Given the description of an element on the screen output the (x, y) to click on. 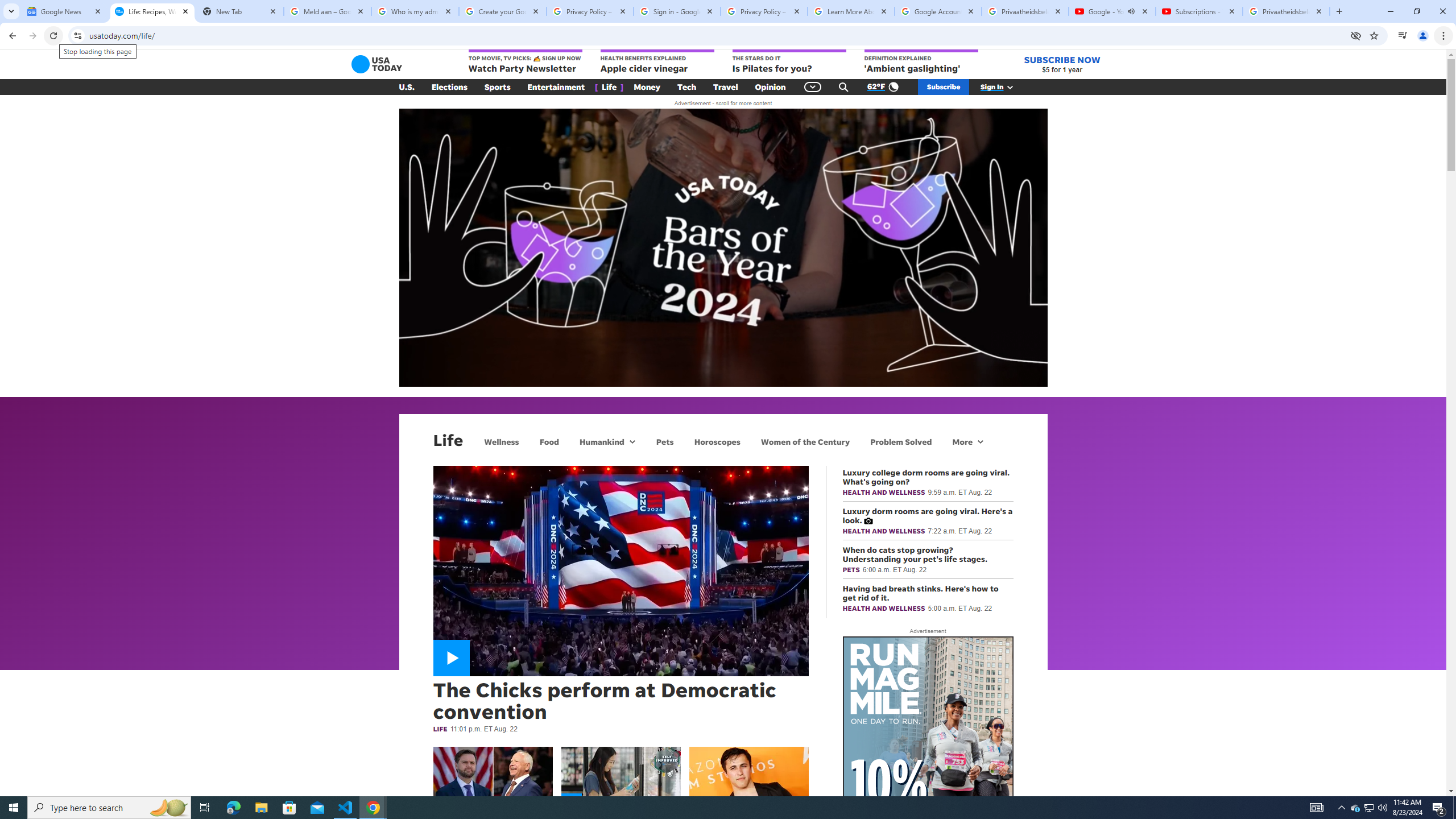
Travel (725, 87)
New Tab (239, 11)
HEALTH BENEFITS EXPLAINED Apple cider vinegar (656, 62)
Google News (64, 11)
Food (549, 441)
DEFINITION EXPLAINED 'Ambient gaslighting' (920, 62)
Elections (449, 87)
Wellness (501, 441)
THE STARS DO IT Is Pilates for you? (788, 62)
Entertainment (556, 87)
